Given the description of an element on the screen output the (x, y) to click on. 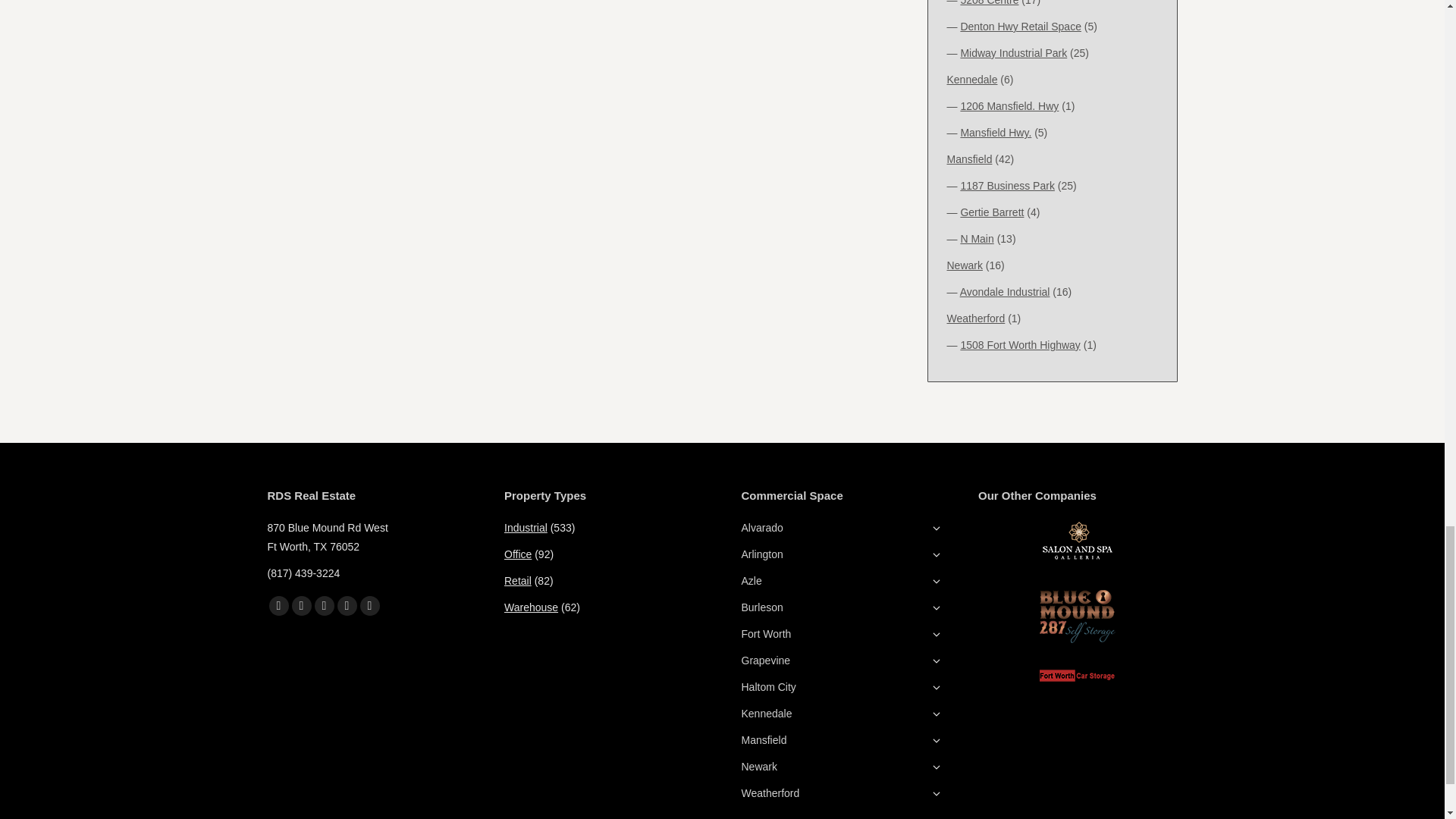
Facebook page opens in new window (277, 605)
X page opens in new window (301, 605)
